Given the description of an element on the screen output the (x, y) to click on. 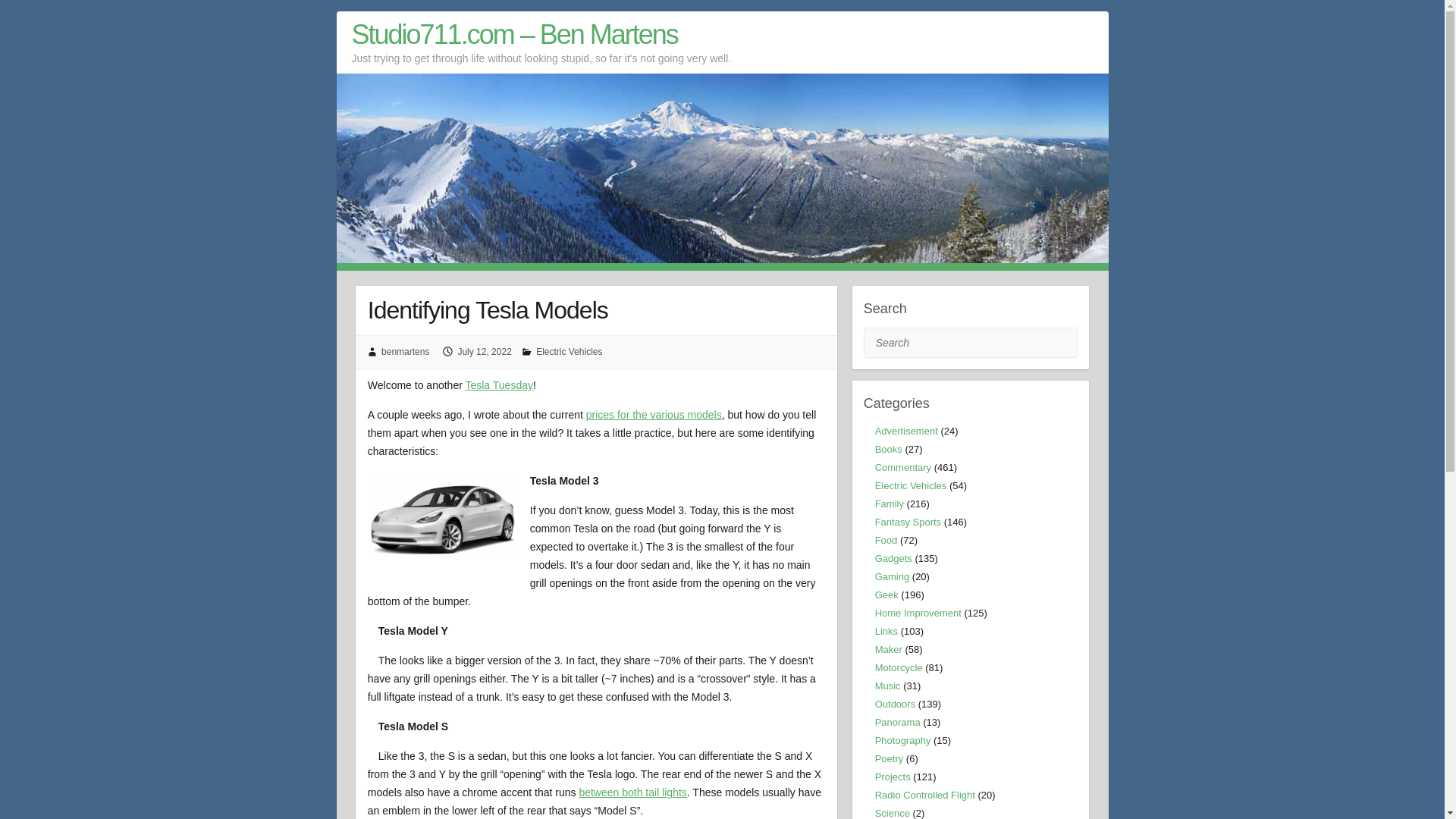
Advertisement (906, 430)
benmartens (405, 351)
July 12, 2022 (484, 351)
Music (888, 685)
Electric Vehicles (911, 485)
Poetry (889, 758)
Panorama (897, 722)
Gadgets (893, 558)
Books (888, 449)
Motorcycle (899, 667)
between both tail lights (631, 792)
Projects (893, 776)
Gaming (892, 576)
Geek (886, 594)
Electric Vehicles (568, 351)
